Given the description of an element on the screen output the (x, y) to click on. 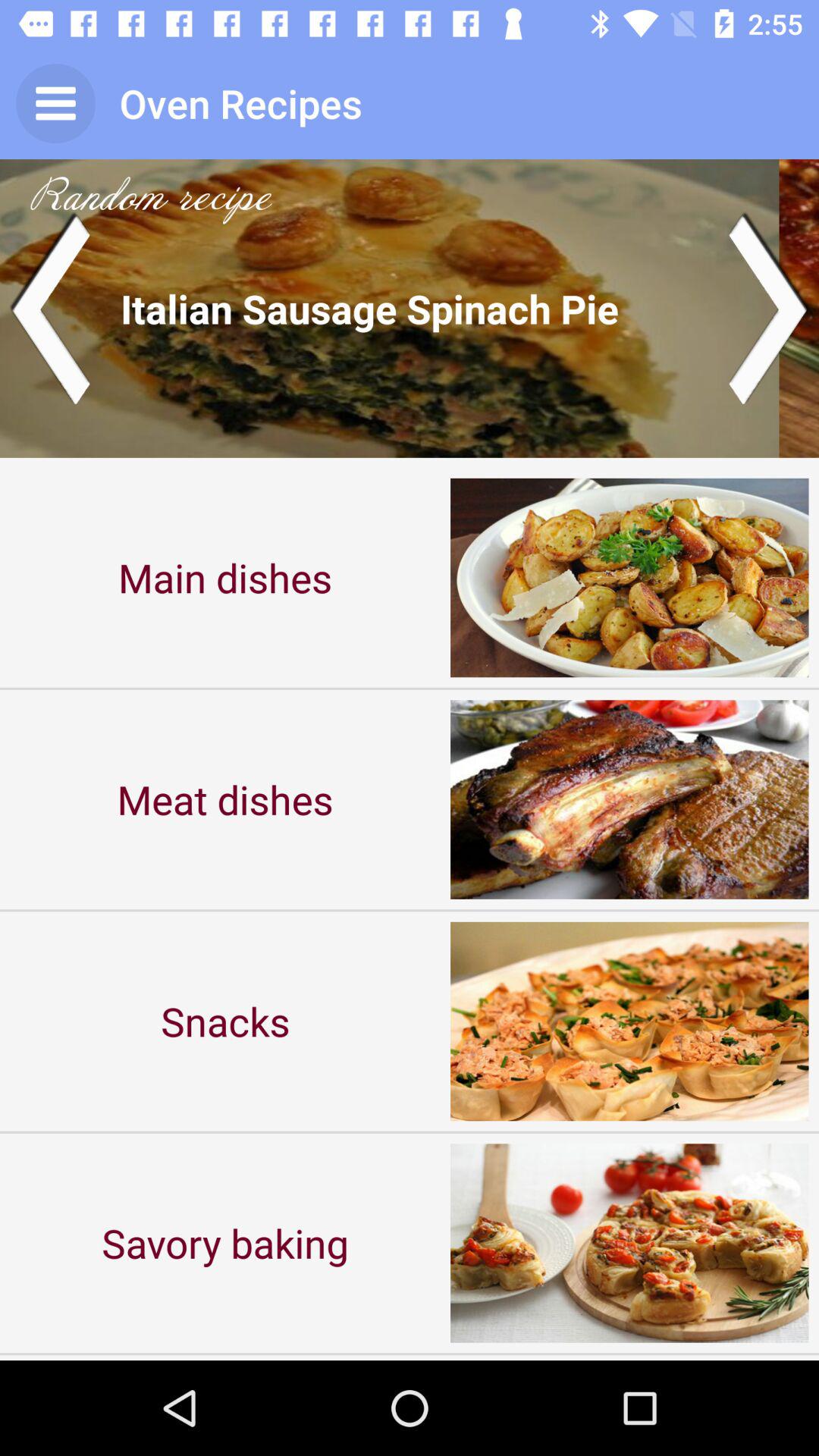
show previous recipe (49, 308)
